Given the description of an element on the screen output the (x, y) to click on. 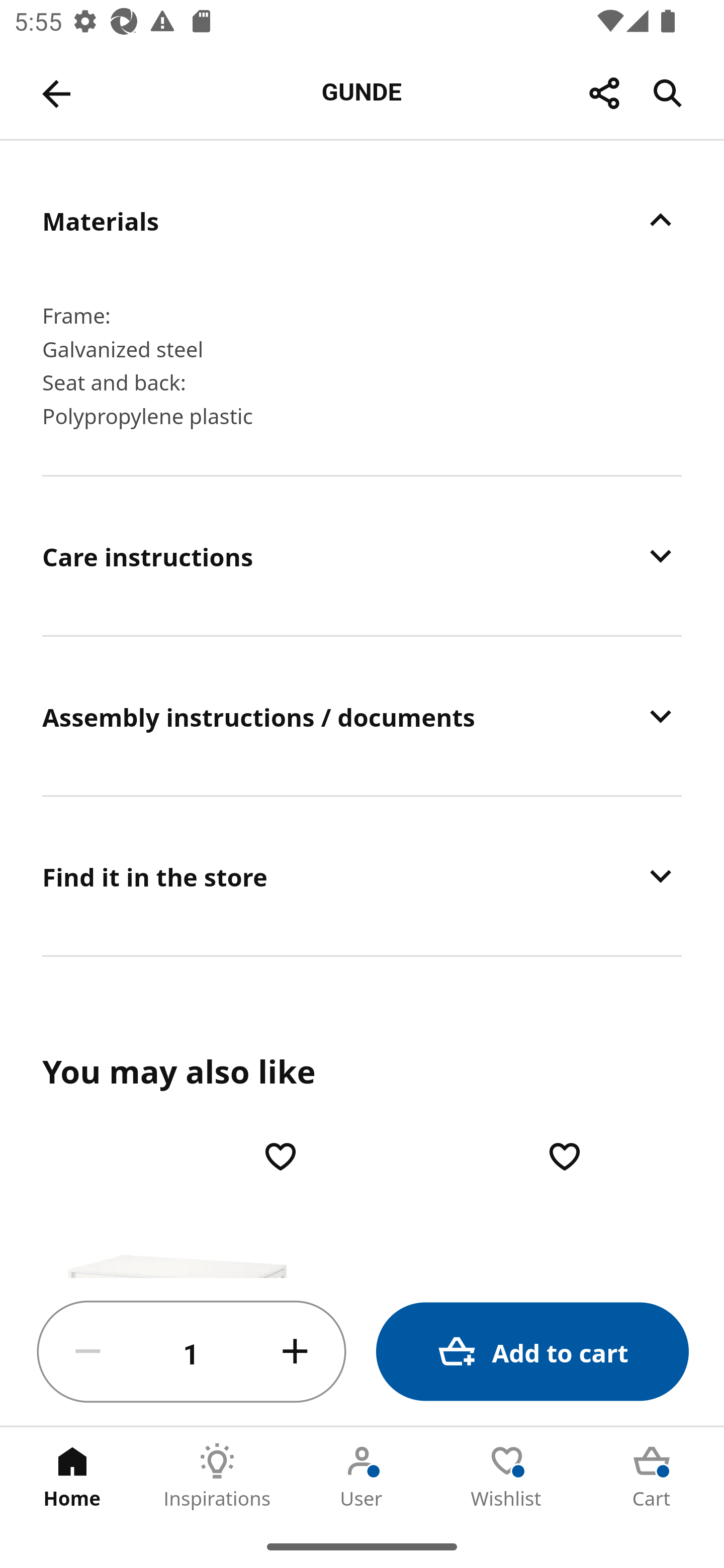
Materials (361, 219)
Care instructions (361, 555)
Assembly instructions / documents (361, 715)
Find it in the store (361, 875)
Add to cart (531, 1352)
1 (191, 1352)
Home
Tab 1 of 5 (72, 1476)
Inspirations
Tab 2 of 5 (216, 1476)
User
Tab 3 of 5 (361, 1476)
Wishlist
Tab 4 of 5 (506, 1476)
Cart
Tab 5 of 5 (651, 1476)
